Given the description of an element on the screen output the (x, y) to click on. 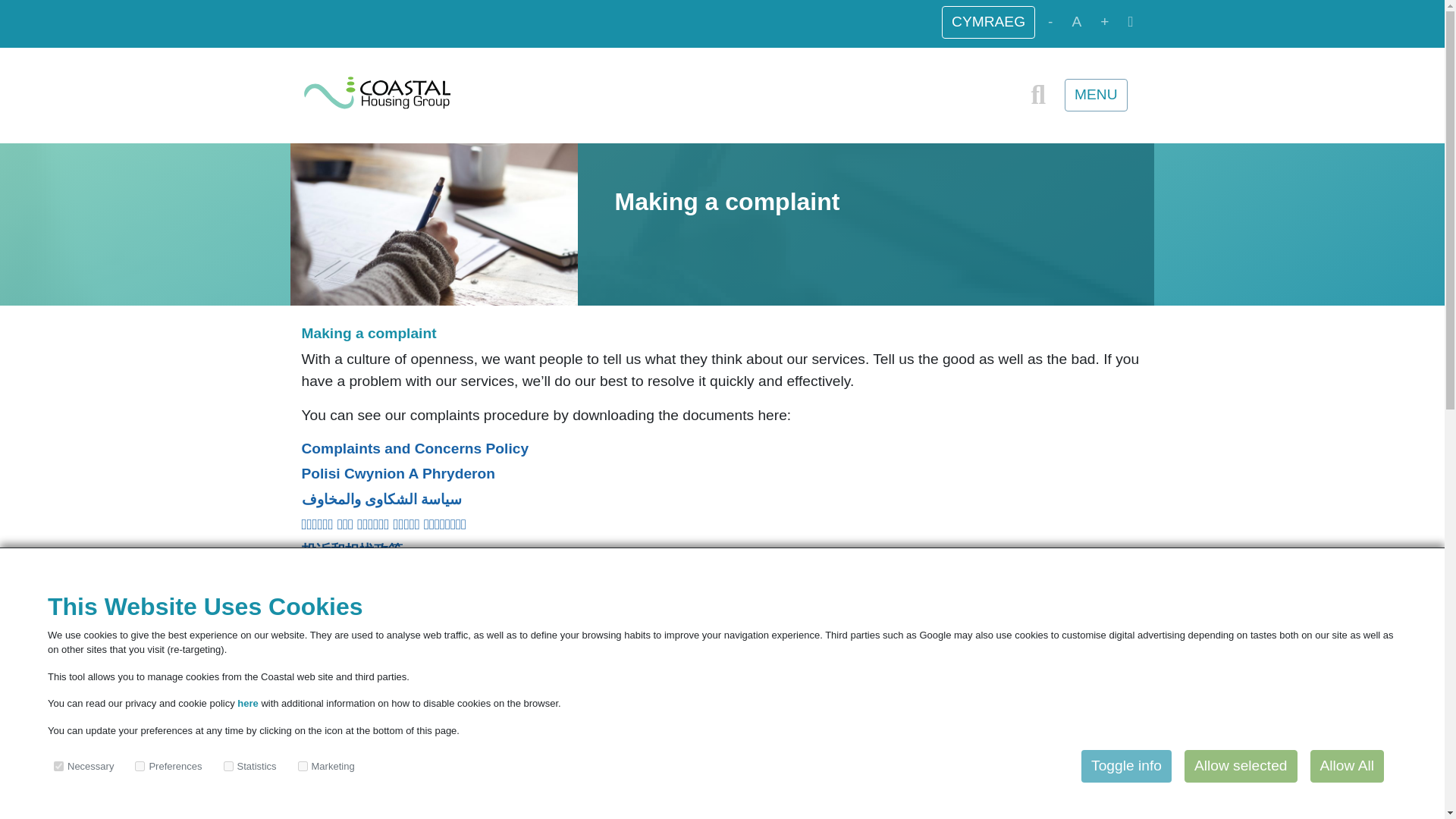
here (248, 703)
MENU (1095, 94)
preferences (139, 766)
necessary (58, 766)
Polisi Cwynion A Phryderon (398, 473)
Allow selected (1241, 766)
Go to top of the page (18, 800)
CYMRAEG (988, 21)
Allow selected (1241, 766)
Complaints and Concerns Policy (415, 448)
